Given the description of an element on the screen output the (x, y) to click on. 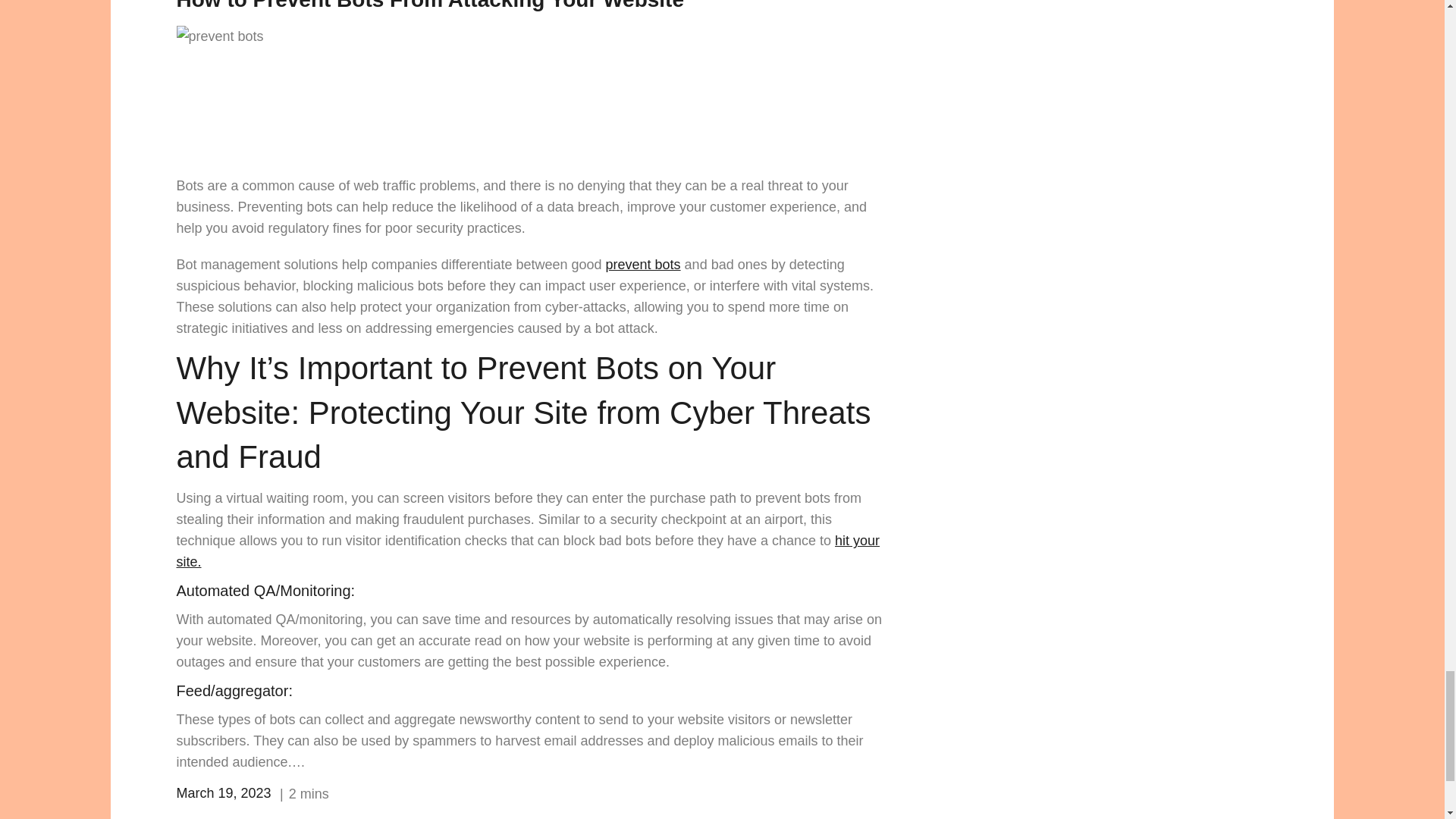
How to Prevent Bots From Attacking Your Website (430, 5)
hit your site. (527, 551)
March 19, 2023 (223, 792)
prevent bots (643, 264)
